Given the description of an element on the screen output the (x, y) to click on. 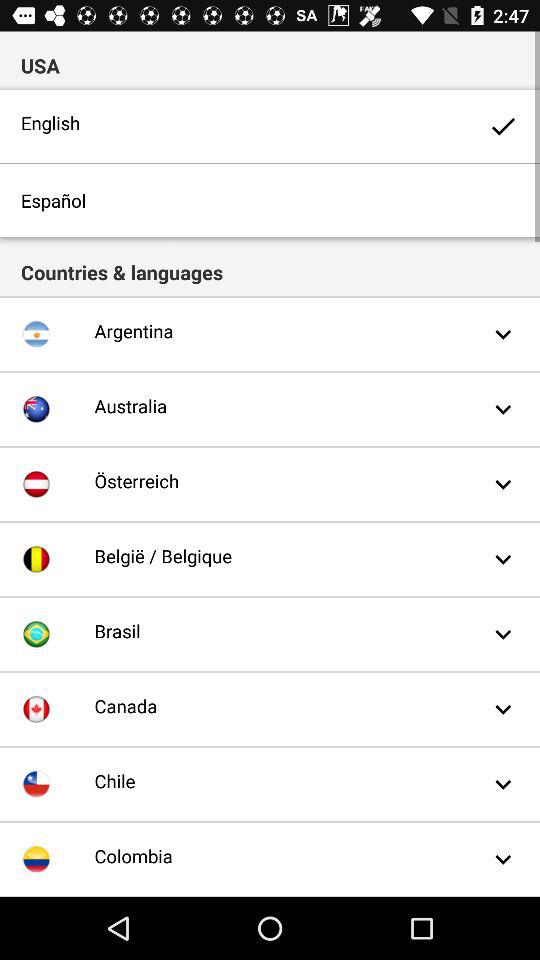
select the english icon (270, 126)
